Given the description of an element on the screen output the (x, y) to click on. 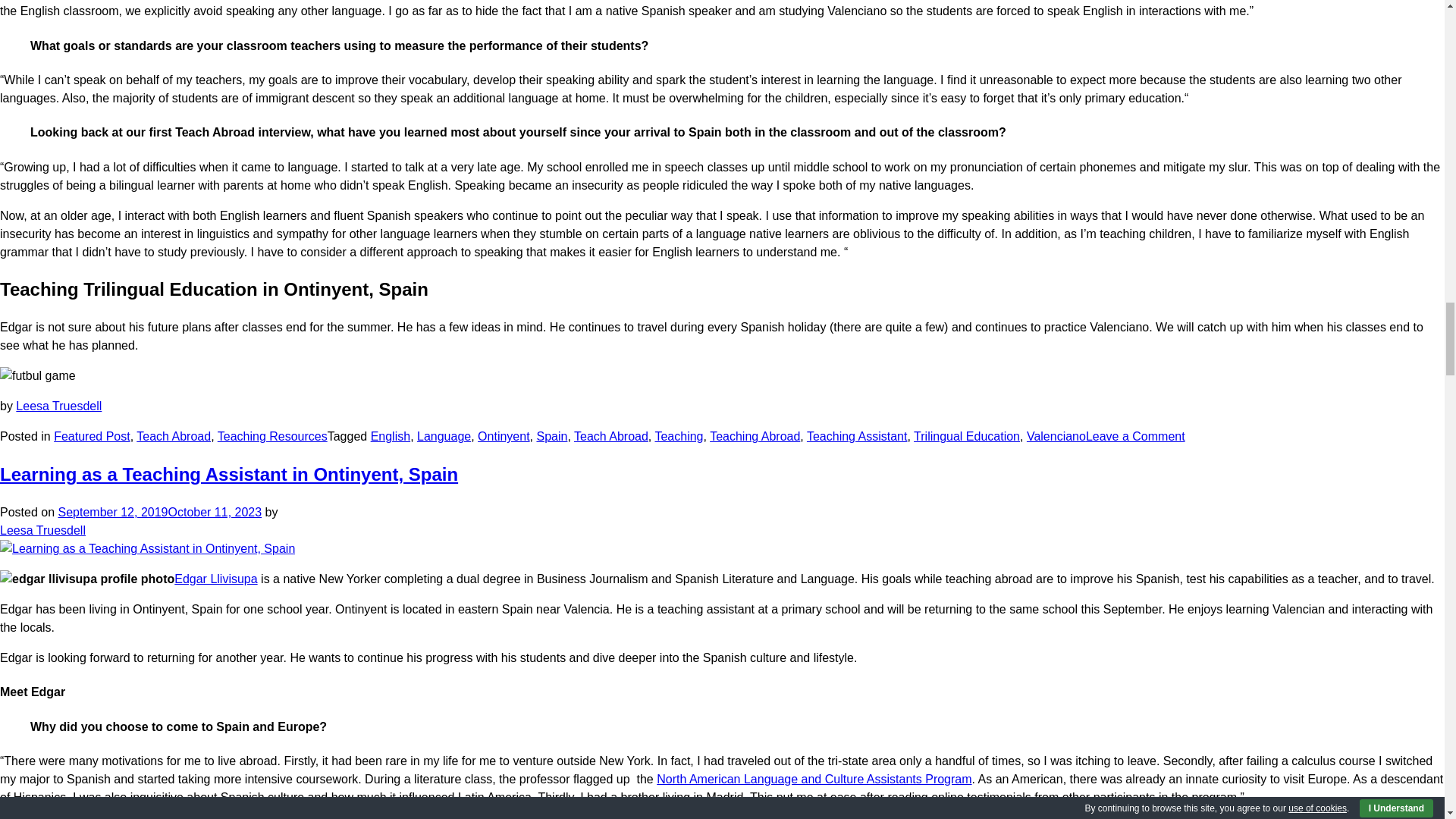
North American Language and Culture Assistants Program (813, 779)
futbul game (37, 375)
Spain (551, 436)
Edgar Llivisupa (215, 578)
Leesa Truesdell (42, 530)
Featured Post (92, 436)
Teach Abroad (173, 436)
Teaching (678, 436)
Ontinyent (503, 436)
Leesa Truesdell (58, 405)
English (390, 436)
Learning as a Teaching Assistant in Ontinyent, Spain (229, 474)
Teach Abroad (610, 436)
Teaching Assistant (856, 436)
